Given the description of an element on the screen output the (x, y) to click on. 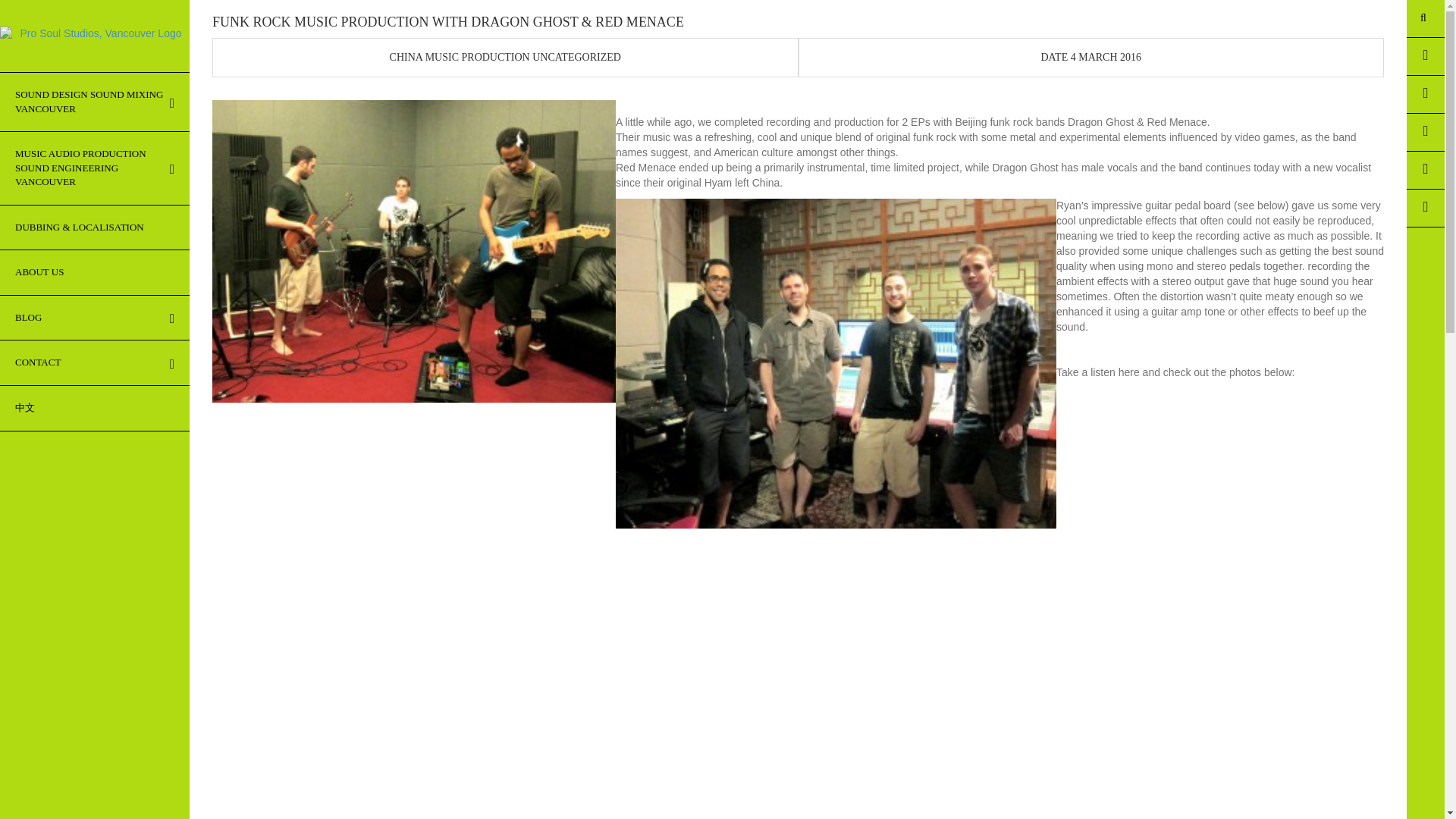
ABOUT US (94, 272)
MUSIC AUDIO PRODUCTION SOUND ENGINEERING VANCOUVER (94, 168)
CONTACT (94, 362)
BLOG (94, 318)
SOUND DESIGN SOUND MIXING VANCOUVER (94, 101)
